Given the description of an element on the screen output the (x, y) to click on. 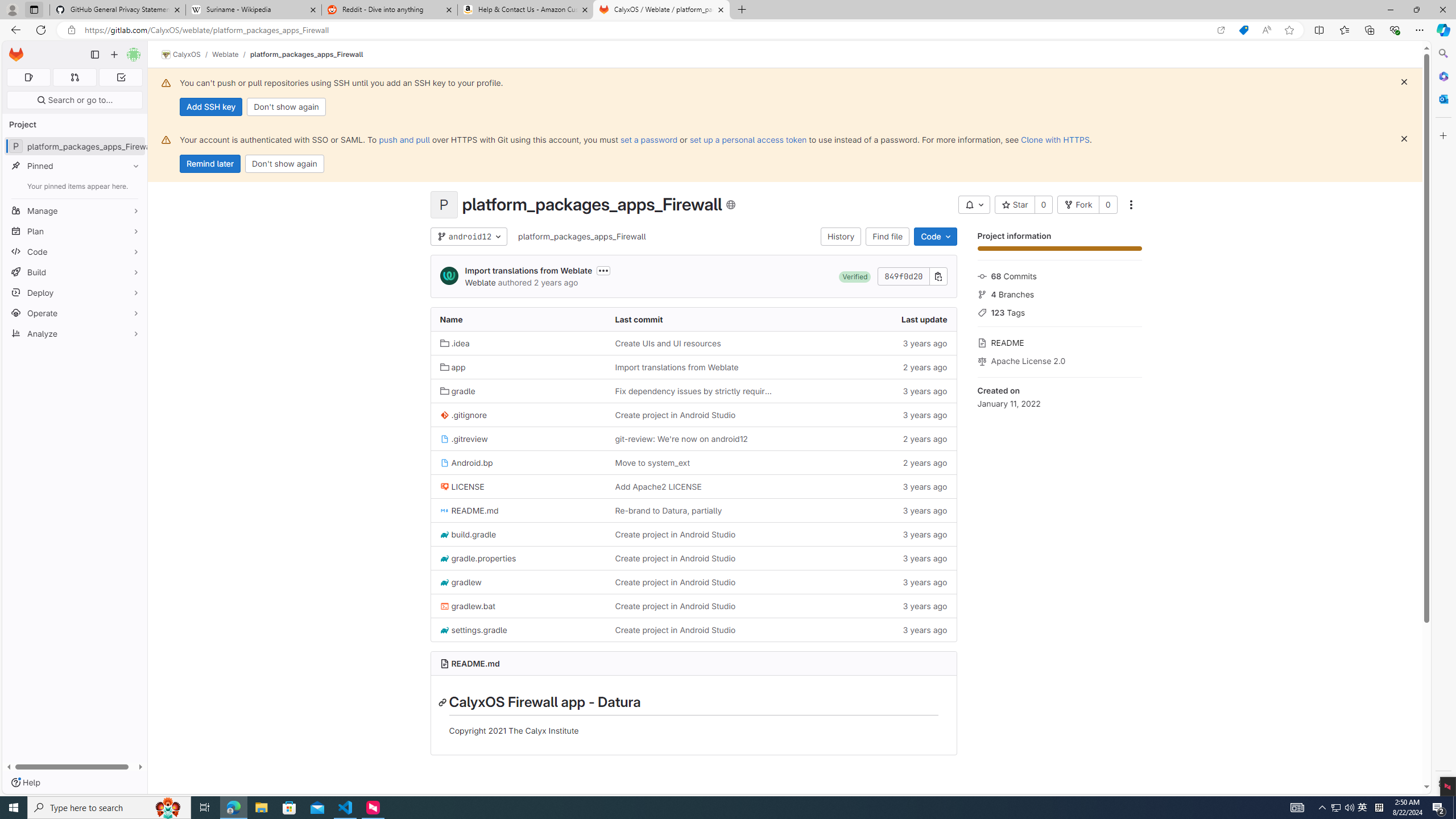
.gitreview (517, 438)
Class: s16 icon (730, 204)
Plan (74, 230)
build.gradle (467, 534)
Class: s16 position-relative file-icon (444, 629)
Operate (74, 312)
gradlew (460, 581)
Class: s16 gl-alert-icon gl-alert-icon-no-title (165, 139)
More actions (1130, 204)
